Given the description of an element on the screen output the (x, y) to click on. 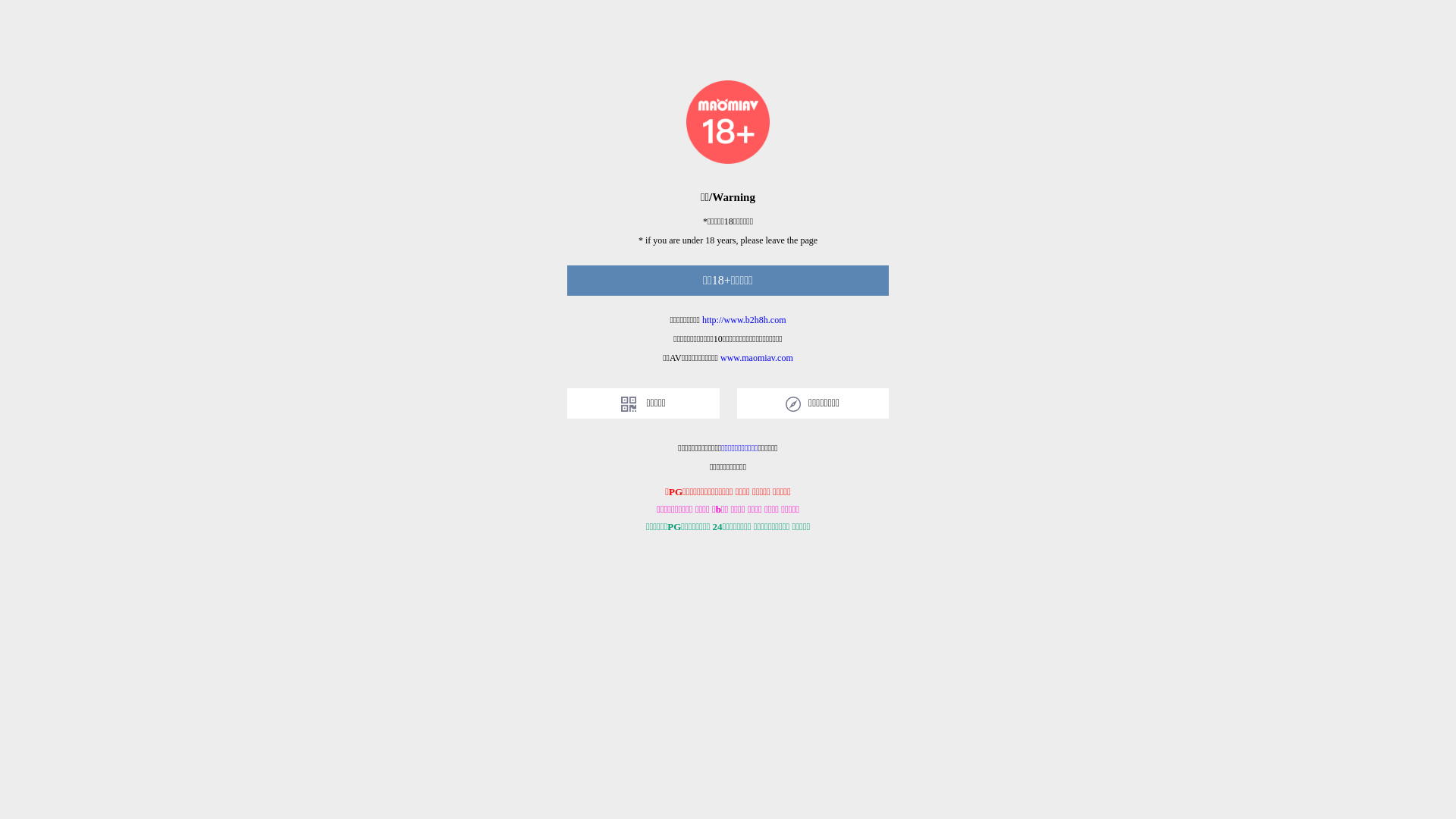
www.maomiav.com Element type: text (756, 357)
http://www.b2h8h.com Element type: text (744, 319)
